Given the description of an element on the screen output the (x, y) to click on. 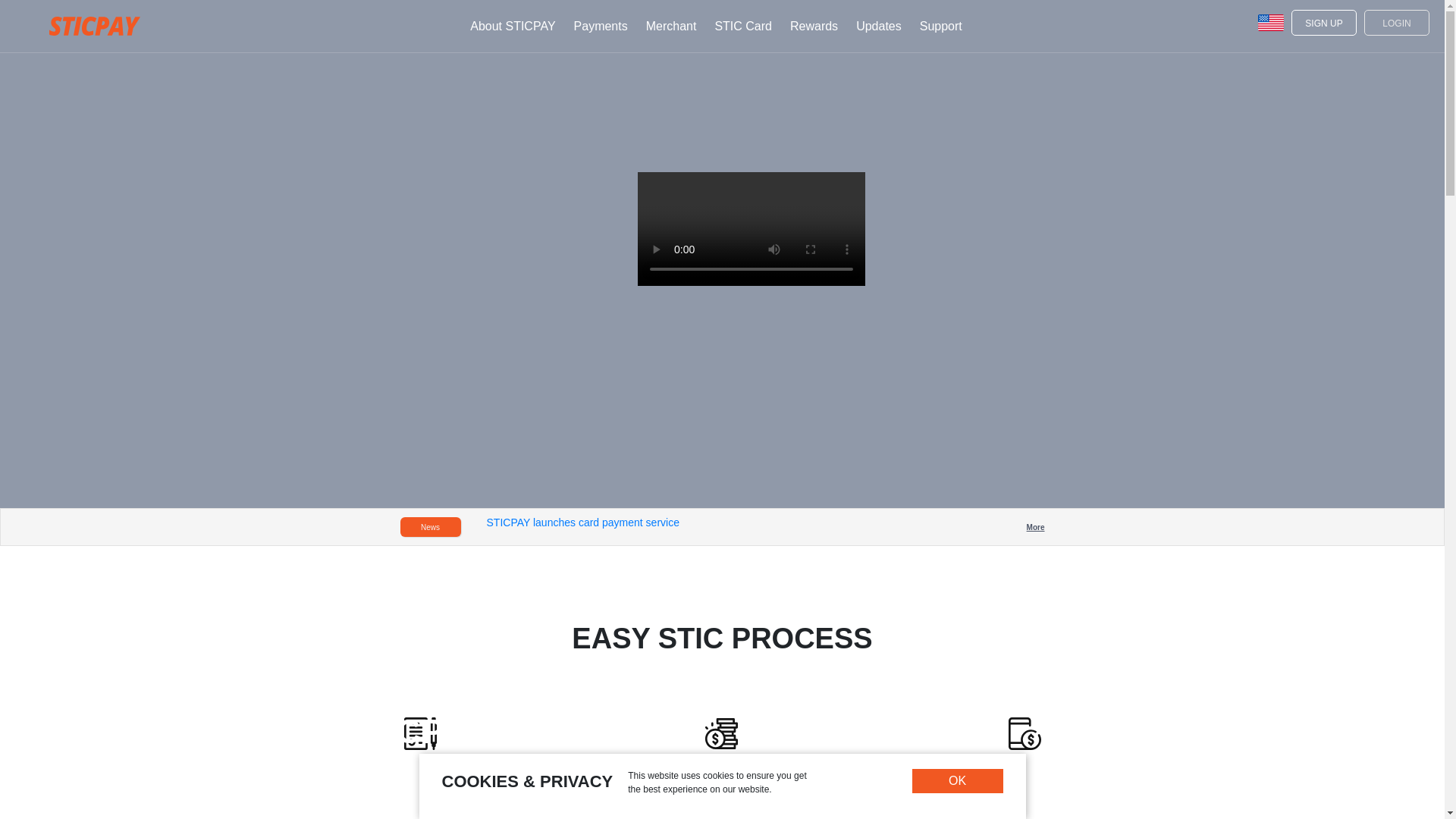
About STICPAY (512, 26)
STIC Card (742, 26)
SIGN UP (1323, 22)
LOGIN (1396, 22)
Merchant (671, 26)
Payments (600, 26)
